Given the description of an element on the screen output the (x, y) to click on. 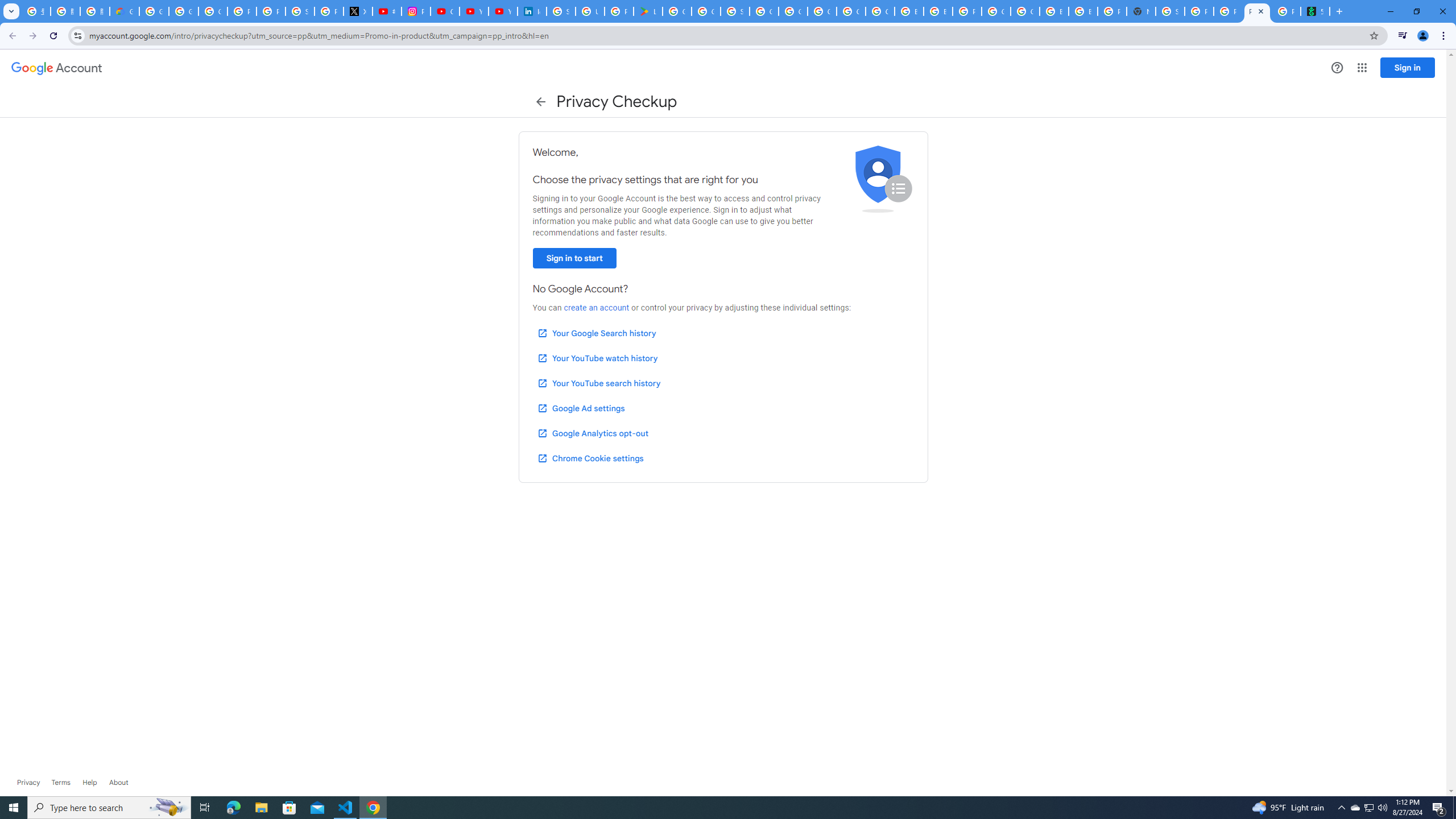
YouTube Culture & Trends - YouTube Top 10, 2021 (502, 11)
Identity verification via Persona | LinkedIn Help (531, 11)
New Tab (1140, 11)
Control your music, videos, and more (1402, 35)
Google Cloud Platform (821, 11)
Privacy Checkup (1256, 11)
Your YouTube watch history (597, 358)
